Given the description of an element on the screen output the (x, y) to click on. 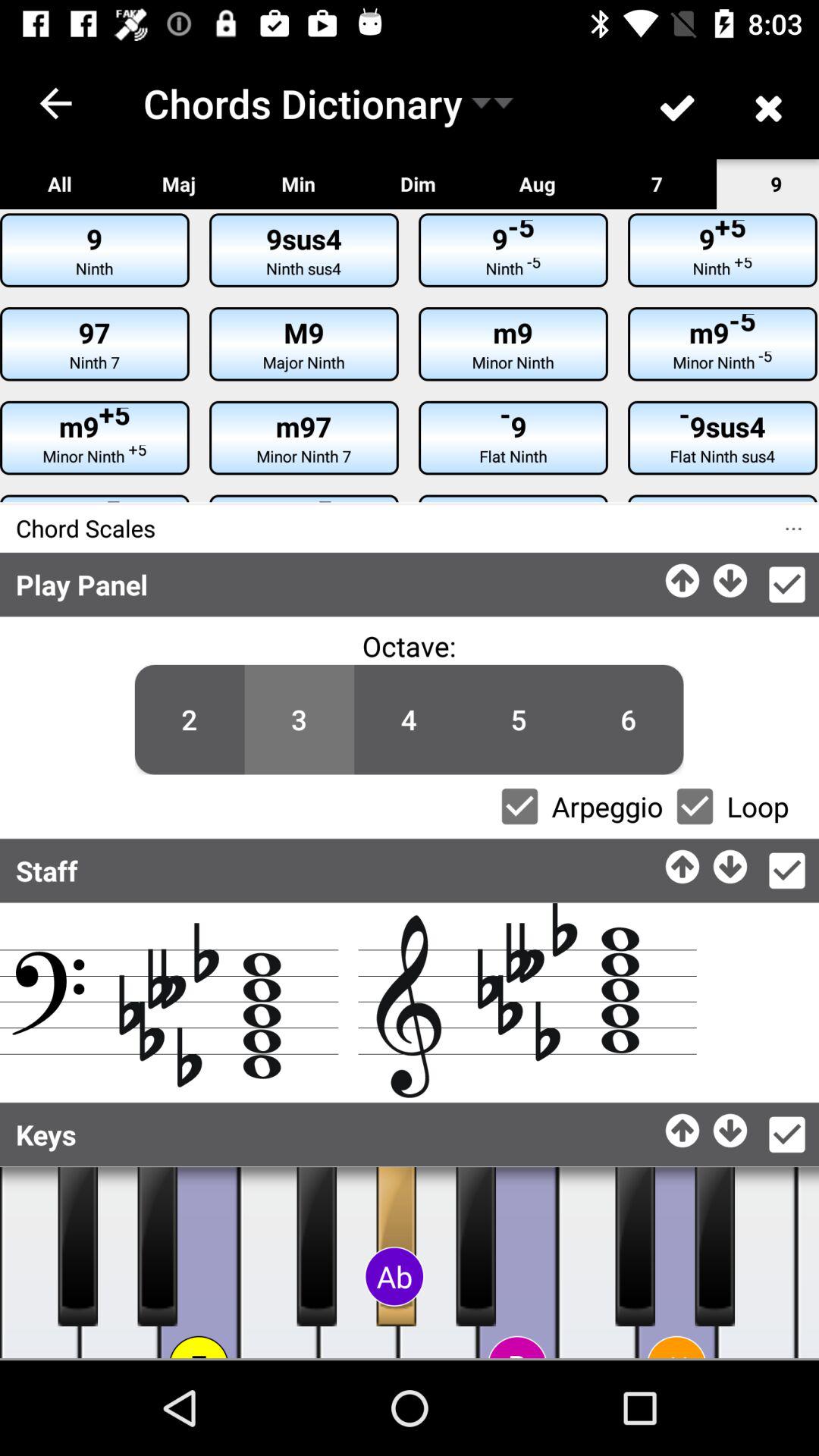
select the first keybar below the text keys (77, 1246)
select the option 5 below the text octave on the web page (519, 719)
